Given the description of an element on the screen output the (x, y) to click on. 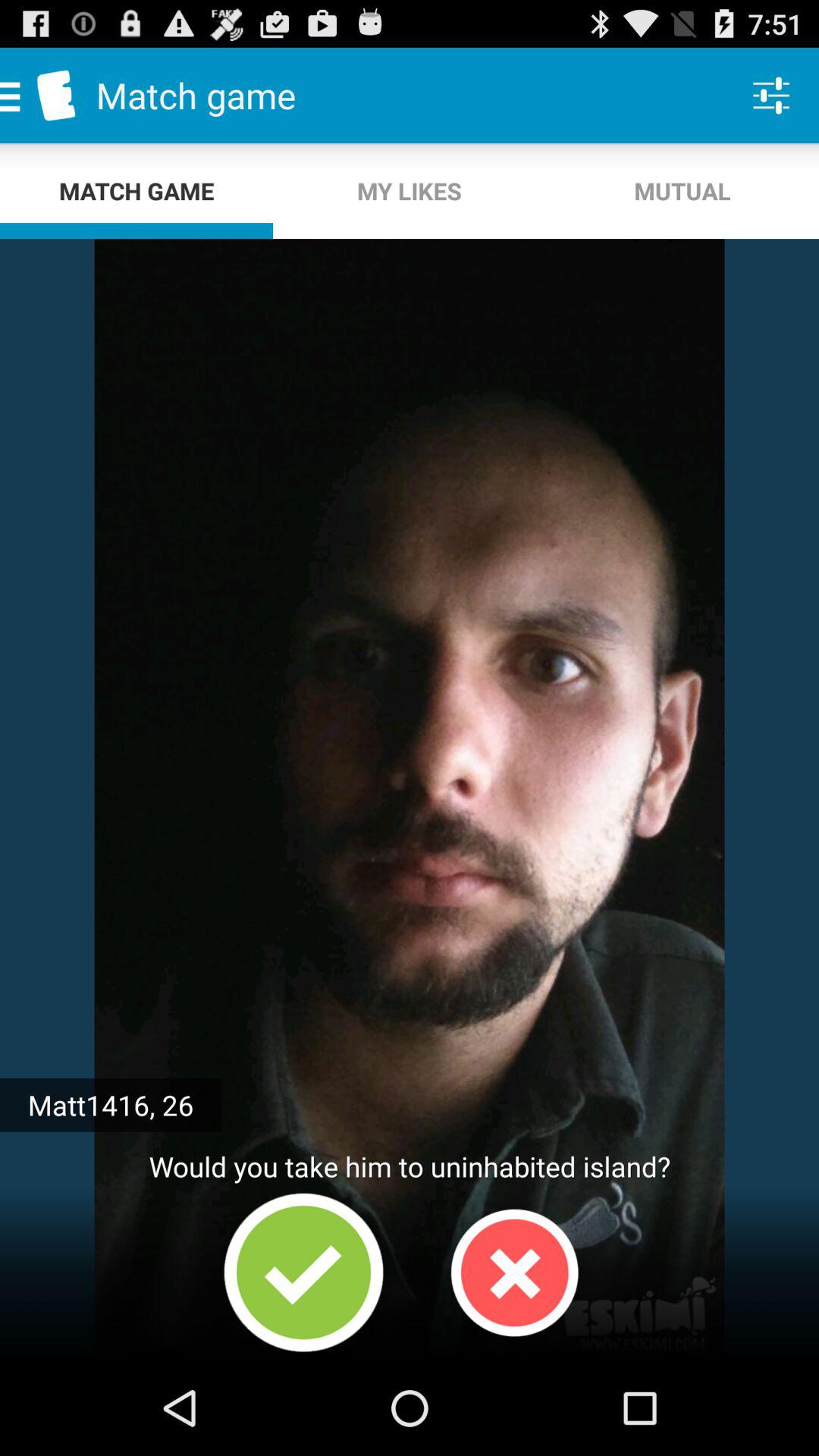
turn on the mutual (682, 190)
